Given the description of an element on the screen output the (x, y) to click on. 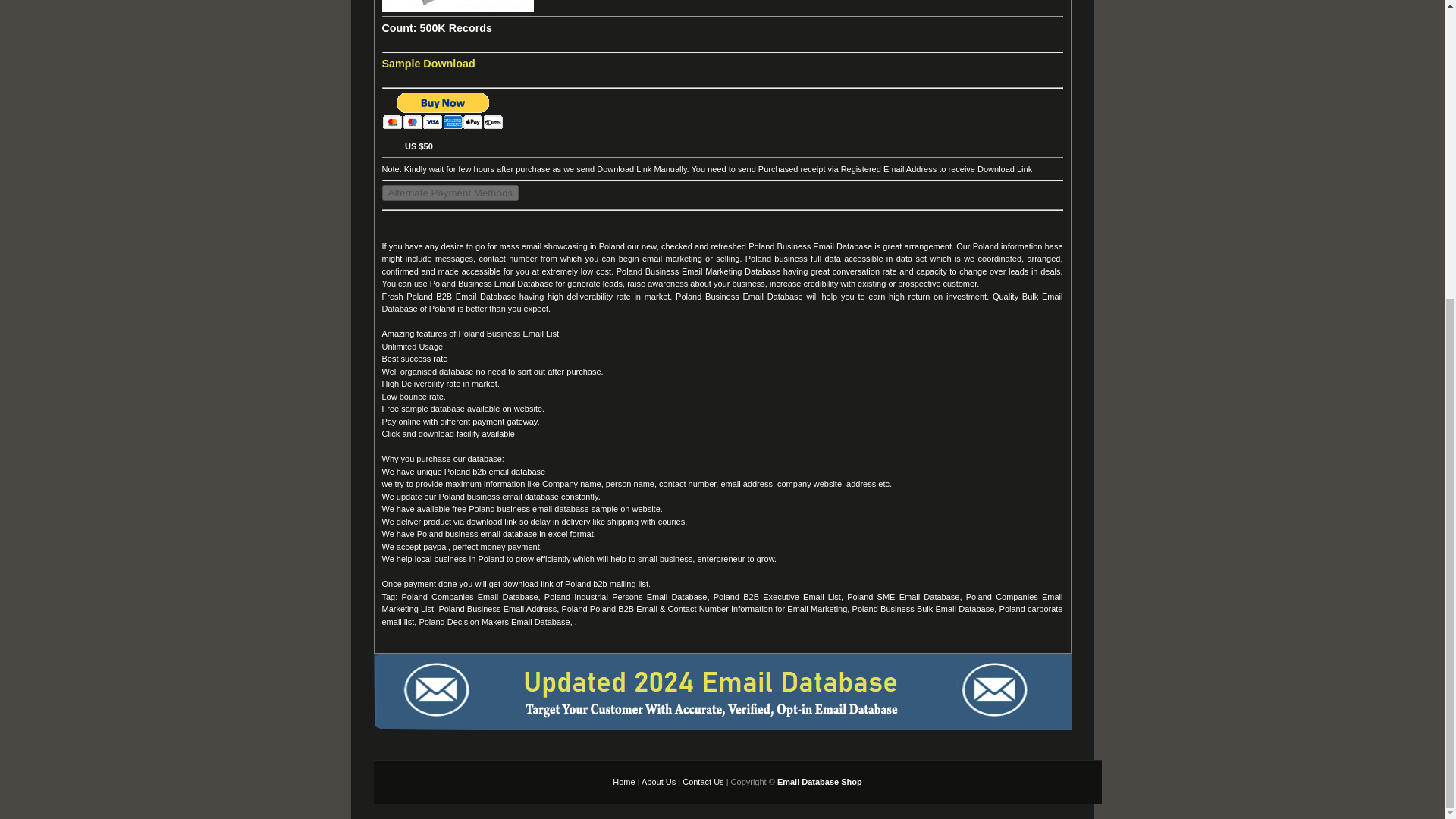
Email Database Shop (819, 781)
Alternate Payment Methods (449, 192)
Sample Download (428, 63)
Alternate Payment Methods (449, 192)
Home (623, 781)
About Us (658, 781)
Contact Us (702, 781)
